Given the description of an element on the screen output the (x, y) to click on. 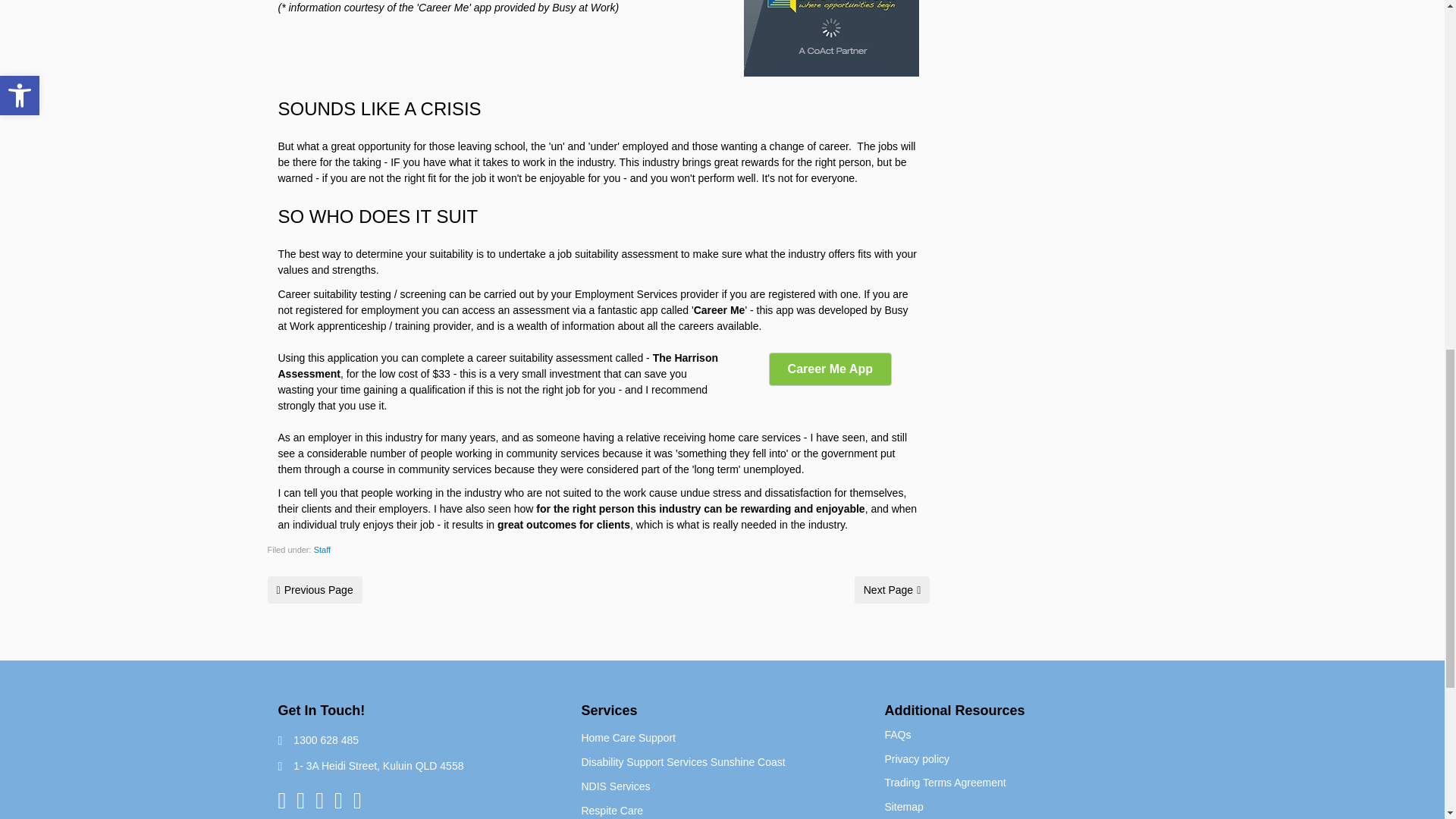
Career Me App (829, 368)
Thinking of Hiring your Own Care Staff? (313, 589)
Staff (322, 549)
career-me (831, 38)
In-Home Care - is it a viable alternative to a nursing home? (892, 589)
Previous Page (313, 589)
